Given the description of an element on the screen output the (x, y) to click on. 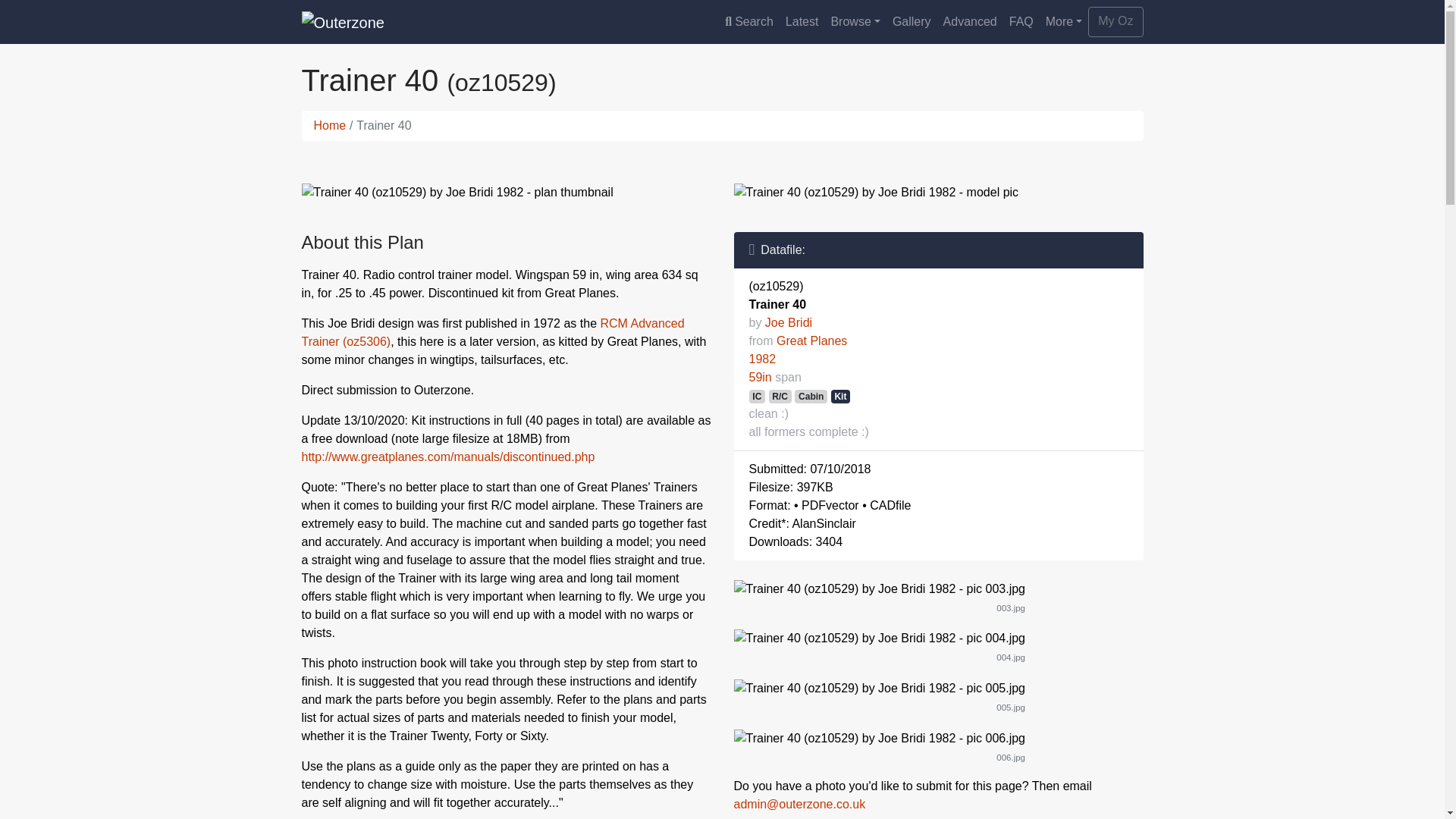
Browse (854, 21)
Home (330, 124)
Search (748, 21)
My Oz (1114, 21)
Joe Bridi (788, 322)
1982 (762, 358)
Gallery (911, 21)
Advanced (970, 21)
Latest (801, 21)
59in (760, 377)
